Given the description of an element on the screen output the (x, y) to click on. 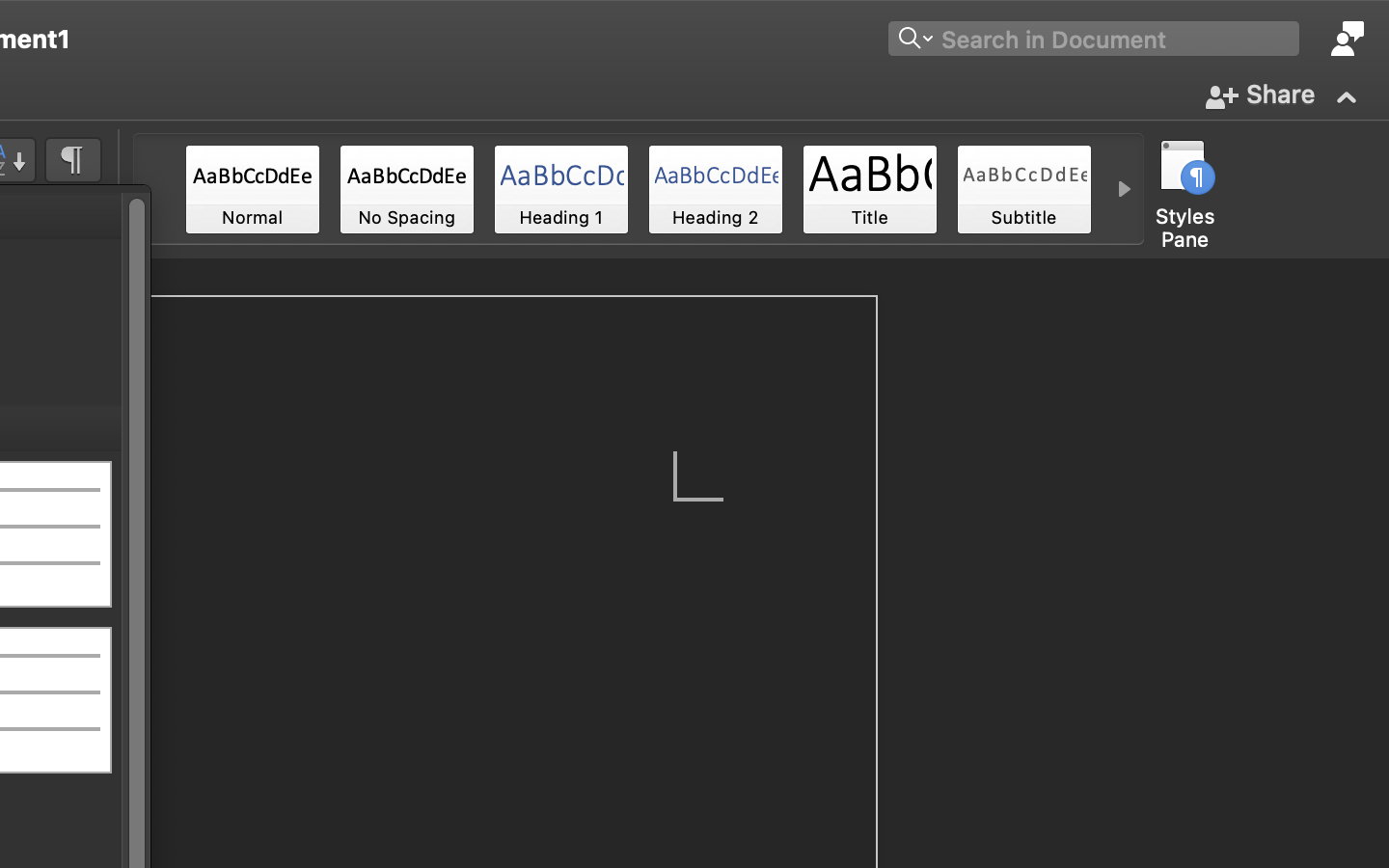
0 Element type: AXRadioButton (1178, 188)
